Given the description of an element on the screen output the (x, y) to click on. 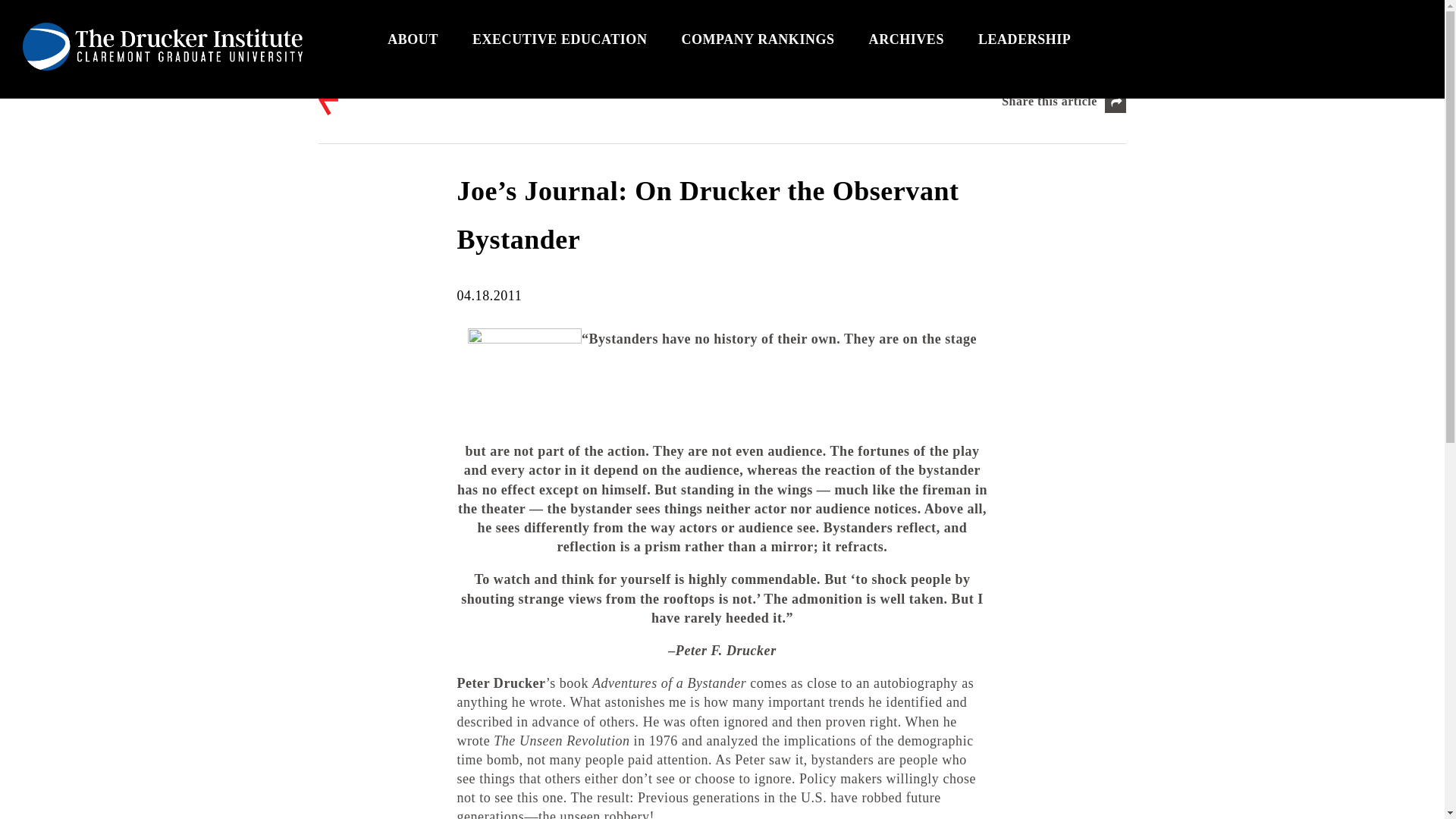
joesjournal1 (523, 385)
COMPANY RANKINGS (756, 39)
LEADERSHIP (1024, 39)
ARCHIVES (906, 39)
EXECUTIVE EDUCATION (559, 39)
ABOUT (412, 39)
